Given the description of an element on the screen output the (x, y) to click on. 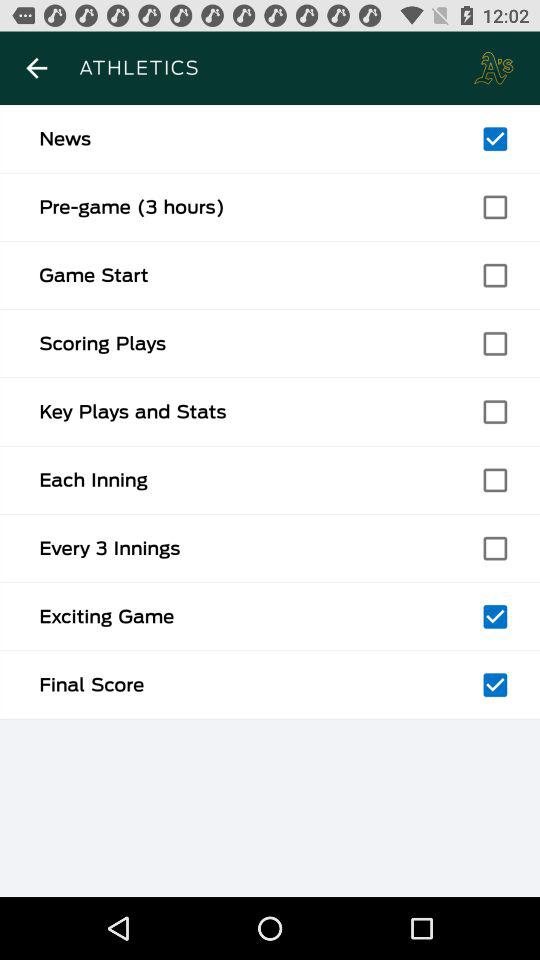
select this item (495, 139)
